Given the description of an element on the screen output the (x, y) to click on. 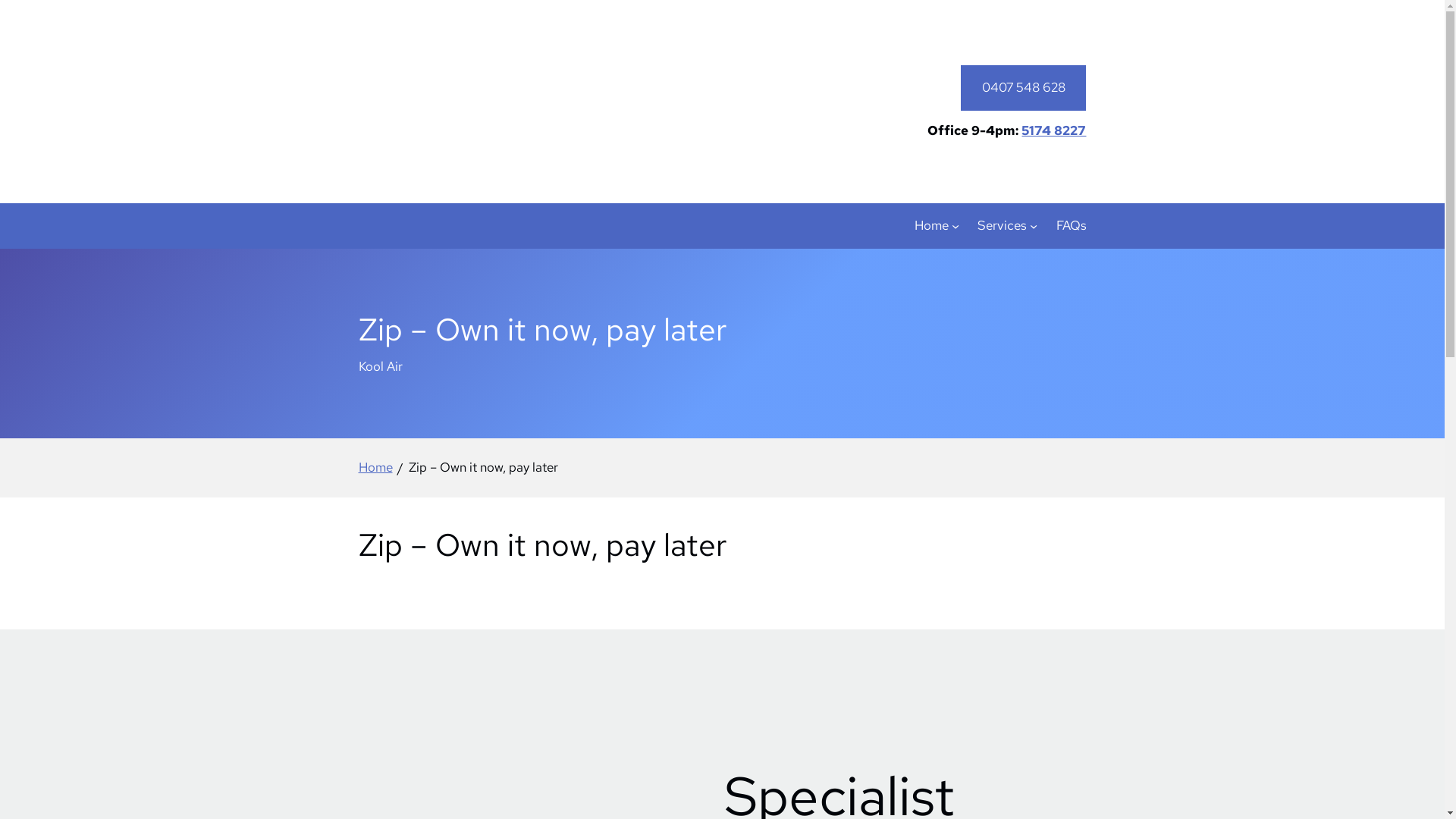
Home Element type: text (931, 225)
Home Element type: text (374, 467)
FAQs Element type: text (1070, 225)
Services Element type: text (1001, 225)
5174 8227 Element type: text (1053, 130)
0407 548 628 Element type: text (1022, 87)
